Given the description of an element on the screen output the (x, y) to click on. 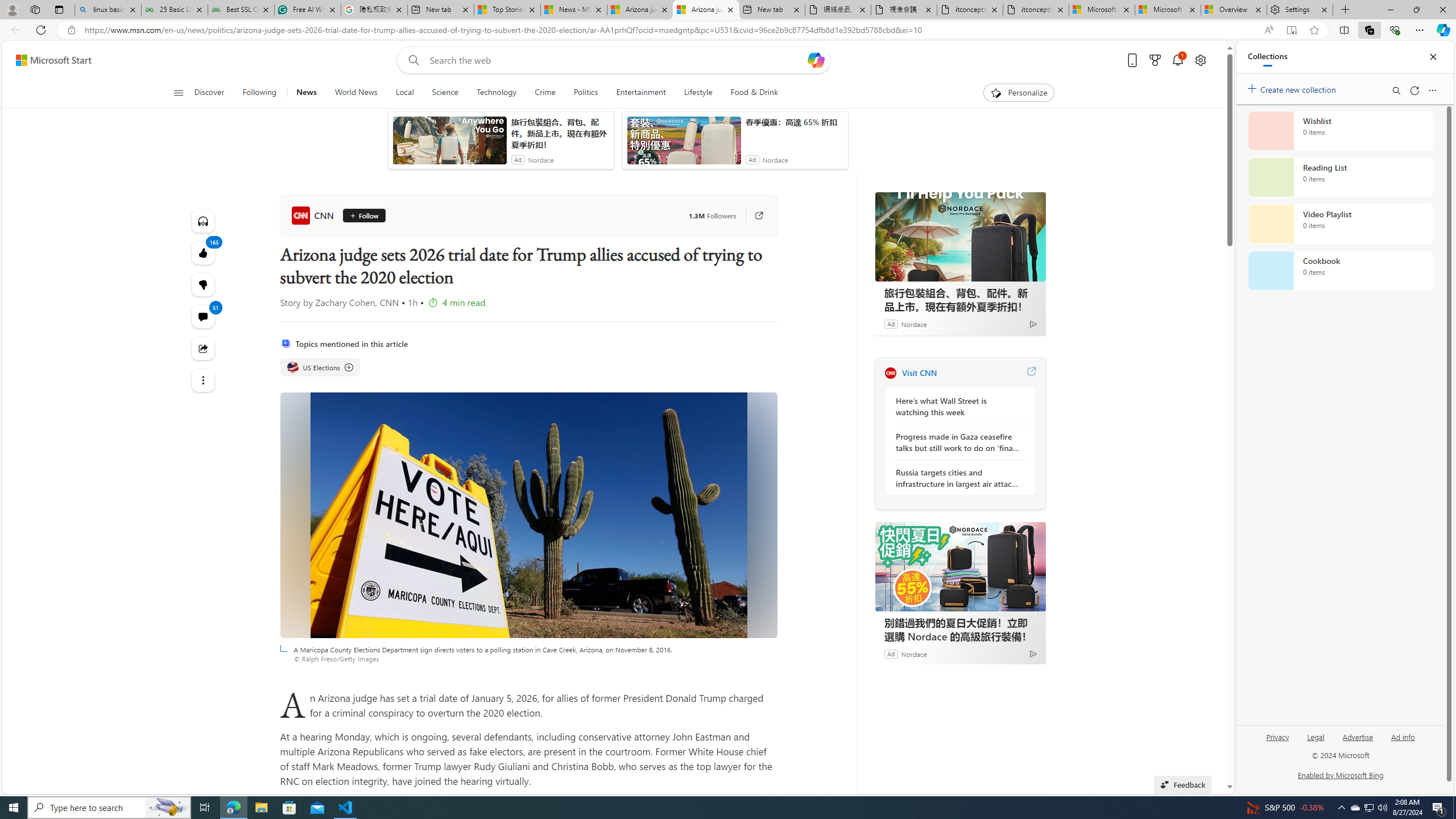
Skip to footer (46, 59)
Overview (1233, 9)
View comments 51 Comment (202, 316)
News - MSN (573, 9)
Science (444, 92)
Follow (359, 215)
To get missing image descriptions, open the context menu. (995, 92)
Politics (585, 92)
